Given the description of an element on the screen output the (x, y) to click on. 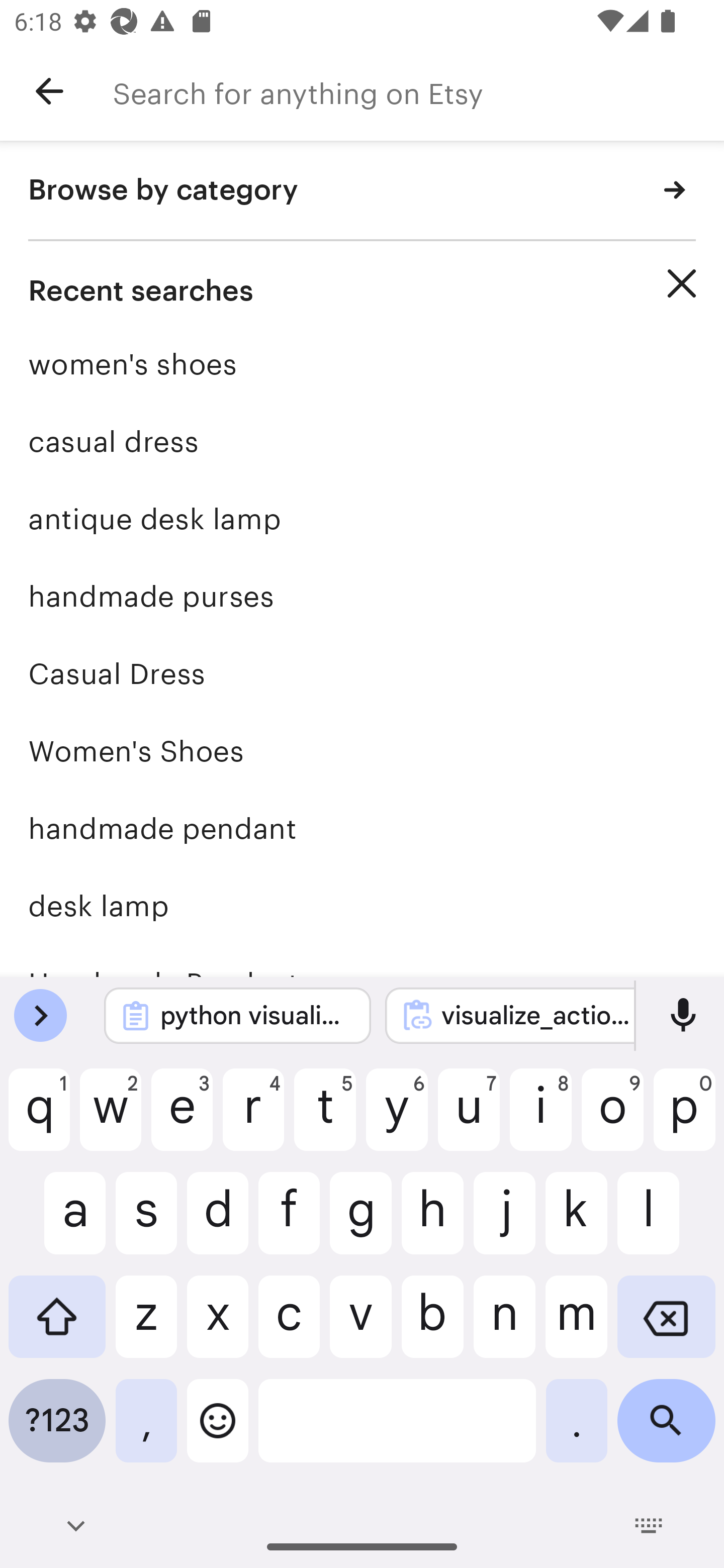
Navigate up (49, 91)
Search for anything on Etsy (418, 91)
Browse by category (362, 191)
Clear (681, 283)
women's shoes (362, 364)
casual dress (362, 440)
antique desk lamp (362, 518)
handmade purses (362, 596)
Casual Dress (362, 673)
Women's Shoes (362, 750)
handmade pendant (362, 828)
desk lamp (362, 906)
